Given the description of an element on the screen output the (x, y) to click on. 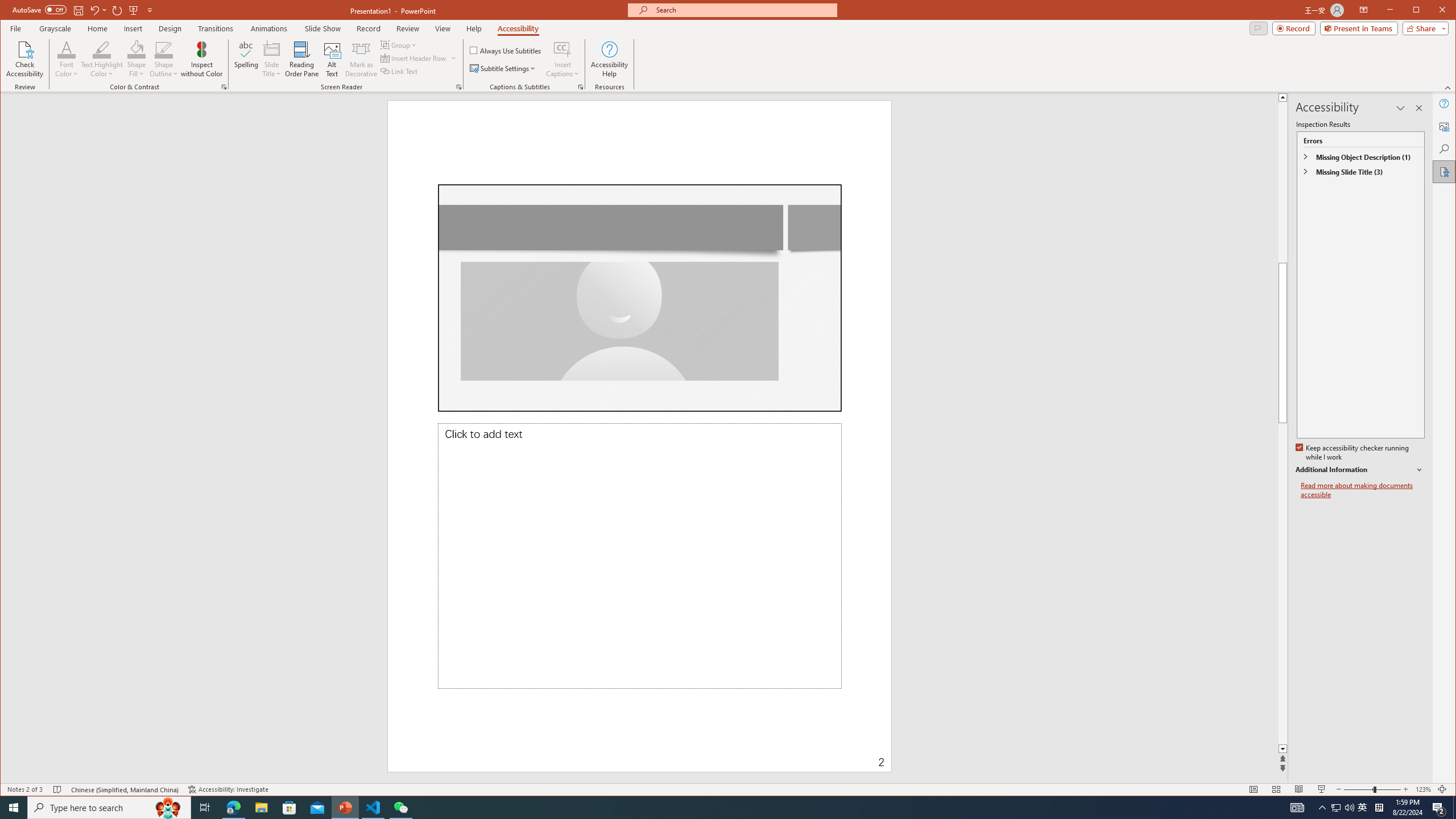
Slide Notes (639, 555)
Additional Information (1360, 469)
Insert Captions (562, 59)
Slide Title (271, 48)
Keep accessibility checker running while I work (1352, 452)
